Given the description of an element on the screen output the (x, y) to click on. 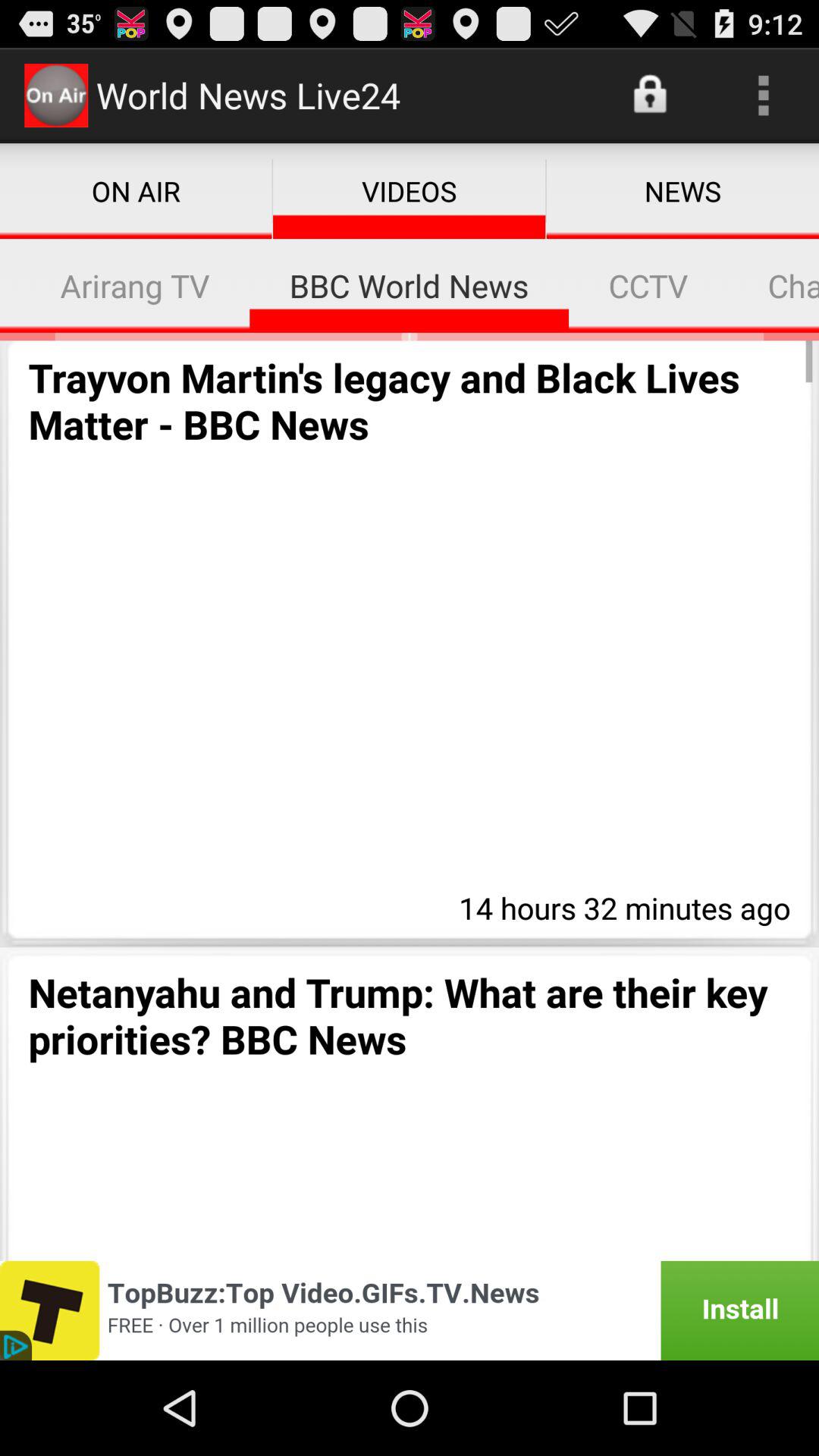
advertisement (409, 1310)
